Given the description of an element on the screen output the (x, y) to click on. 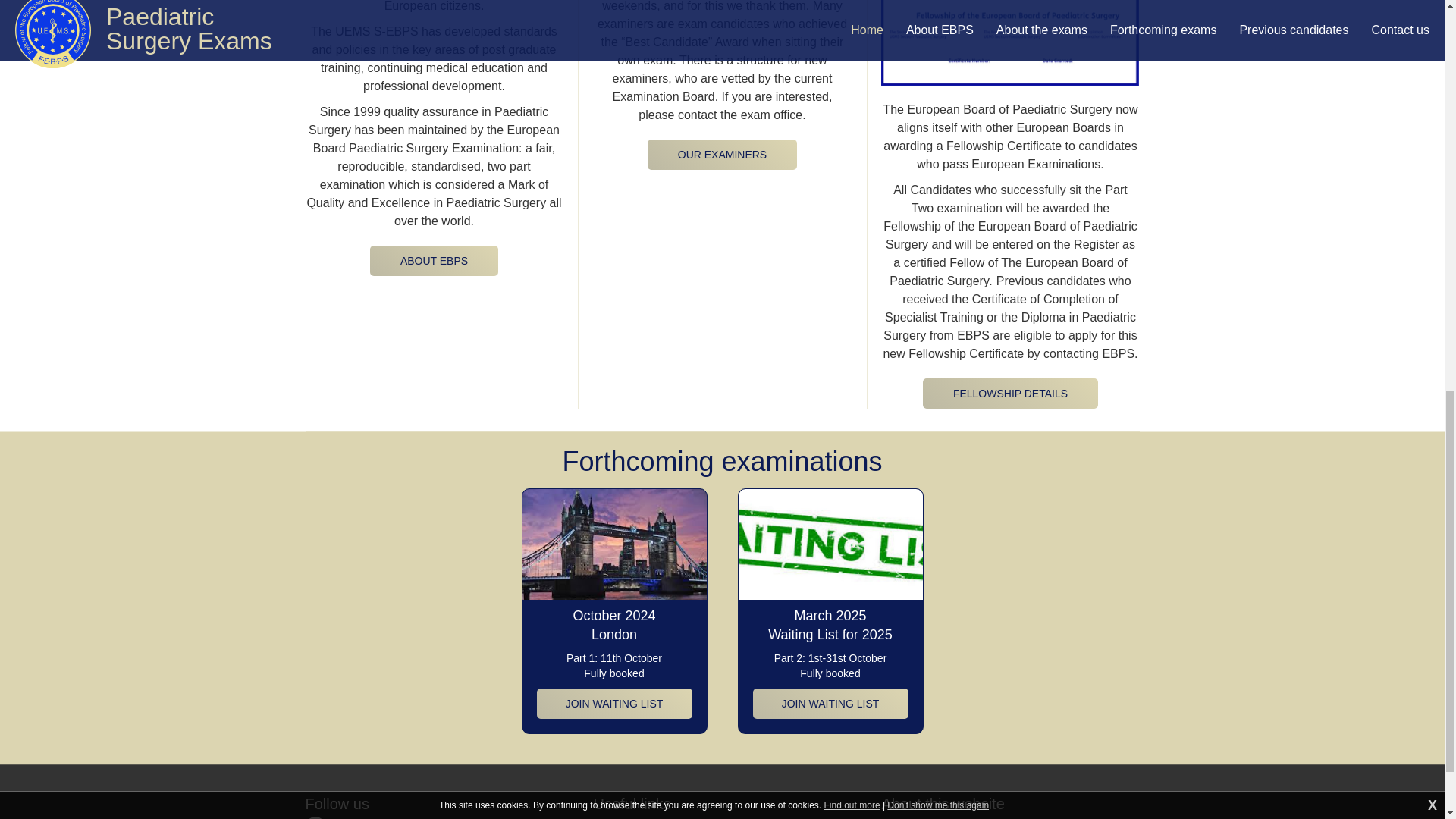
FELLOWSHIP DETAILS (1010, 393)
OUR EXAMINERS (721, 154)
Find us on Facebook (360, 817)
ABOUT EBPS (433, 260)
